Given the description of an element on the screen output the (x, y) to click on. 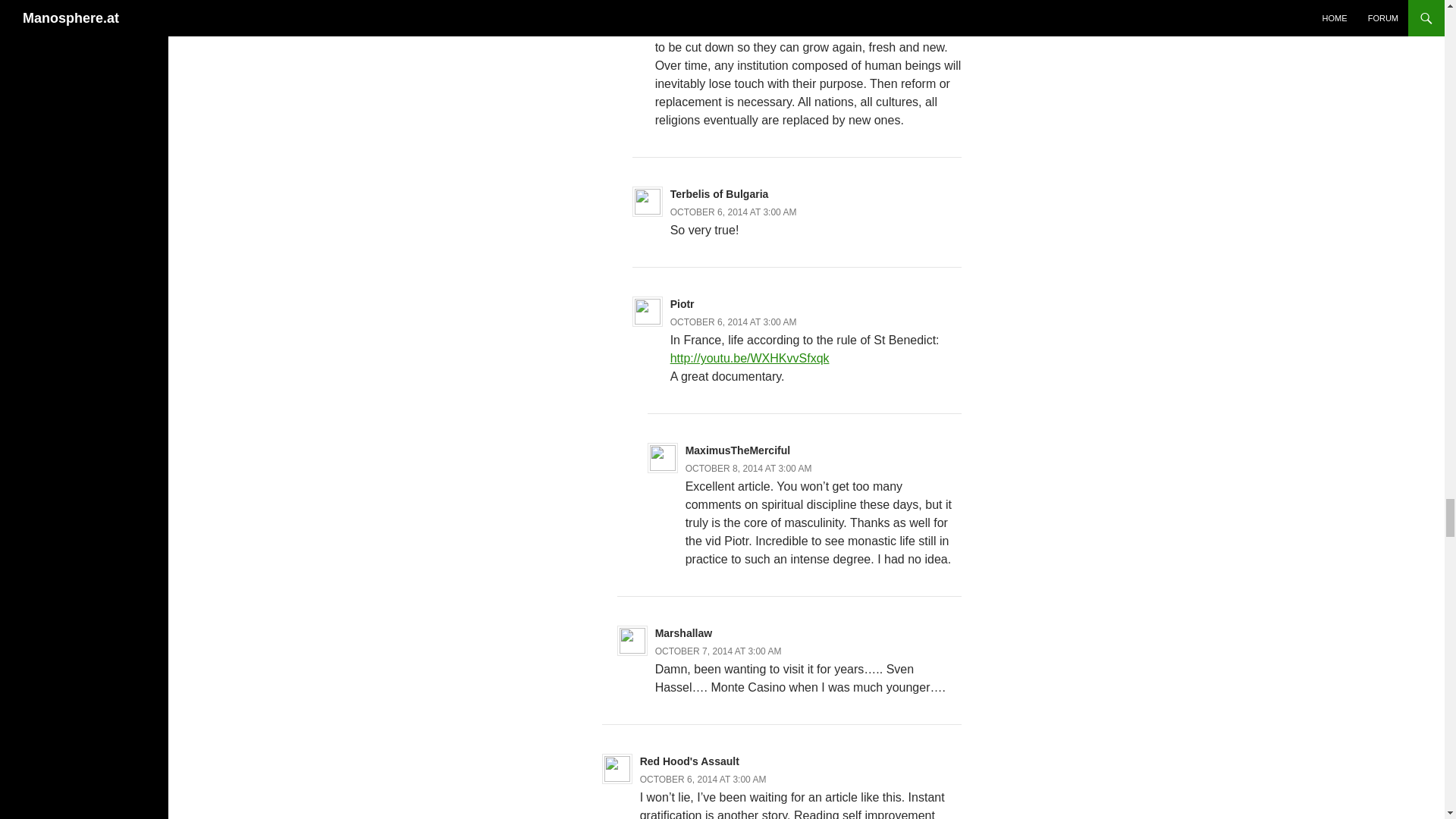
OCTOBER 8, 2014 AT 3:00 AM (748, 468)
OCTOBER 6, 2014 AT 3:00 AM (732, 321)
MaximusTheMerciful (737, 450)
OCTOBER 6, 2014 AT 3:00 AM (718, 10)
OCTOBER 6, 2014 AT 3:00 AM (732, 212)
